Given the description of an element on the screen output the (x, y) to click on. 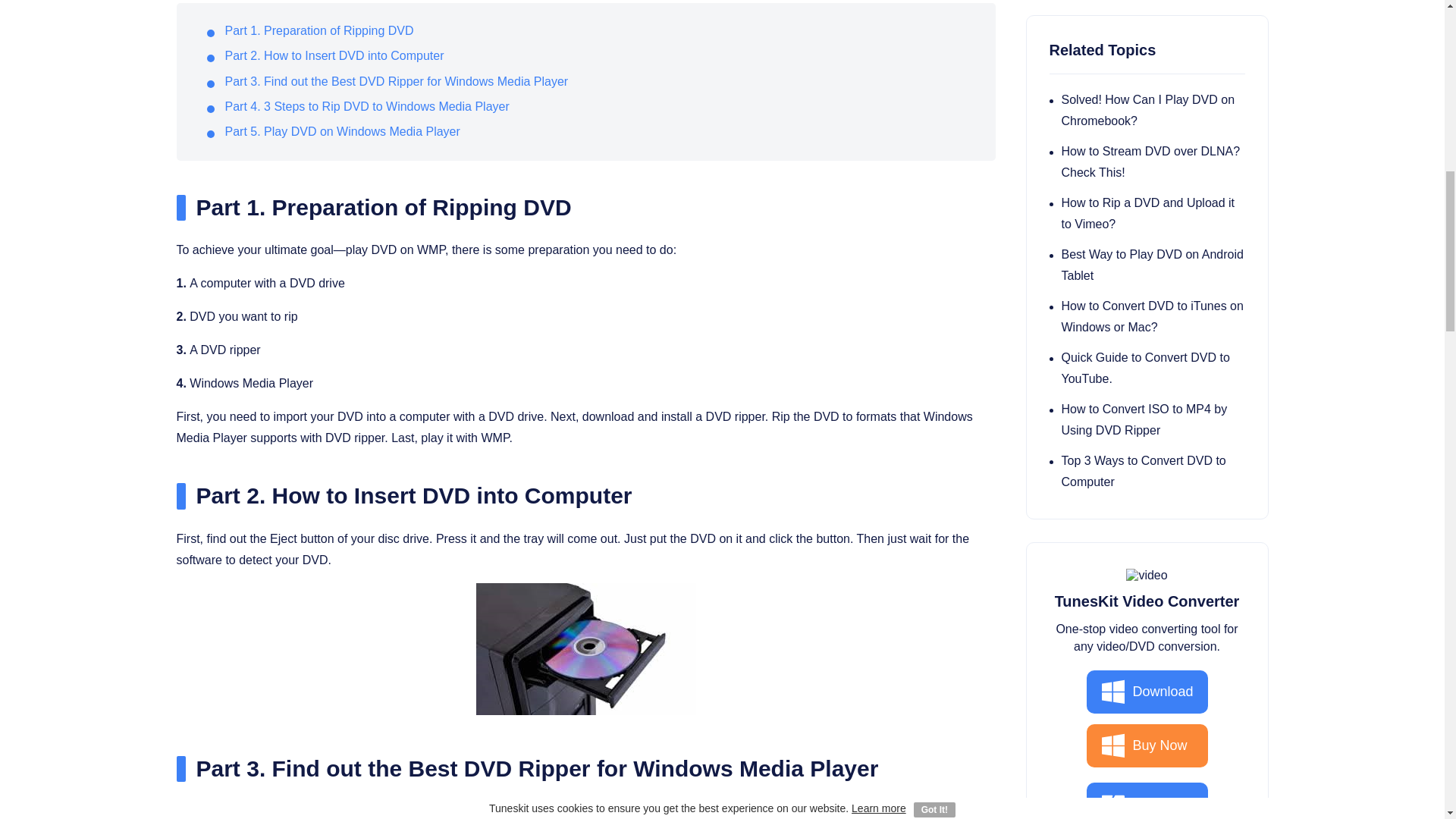
Part 5. Play DVD on Windows Media Player (342, 131)
Part 1. Preparation of Ripping DVD (318, 30)
Part 2. How to Insert DVD into Computer (334, 55)
Part 4. 3 Steps to Rip DVD to Windows Media Player (366, 106)
